Given the description of an element on the screen output the (x, y) to click on. 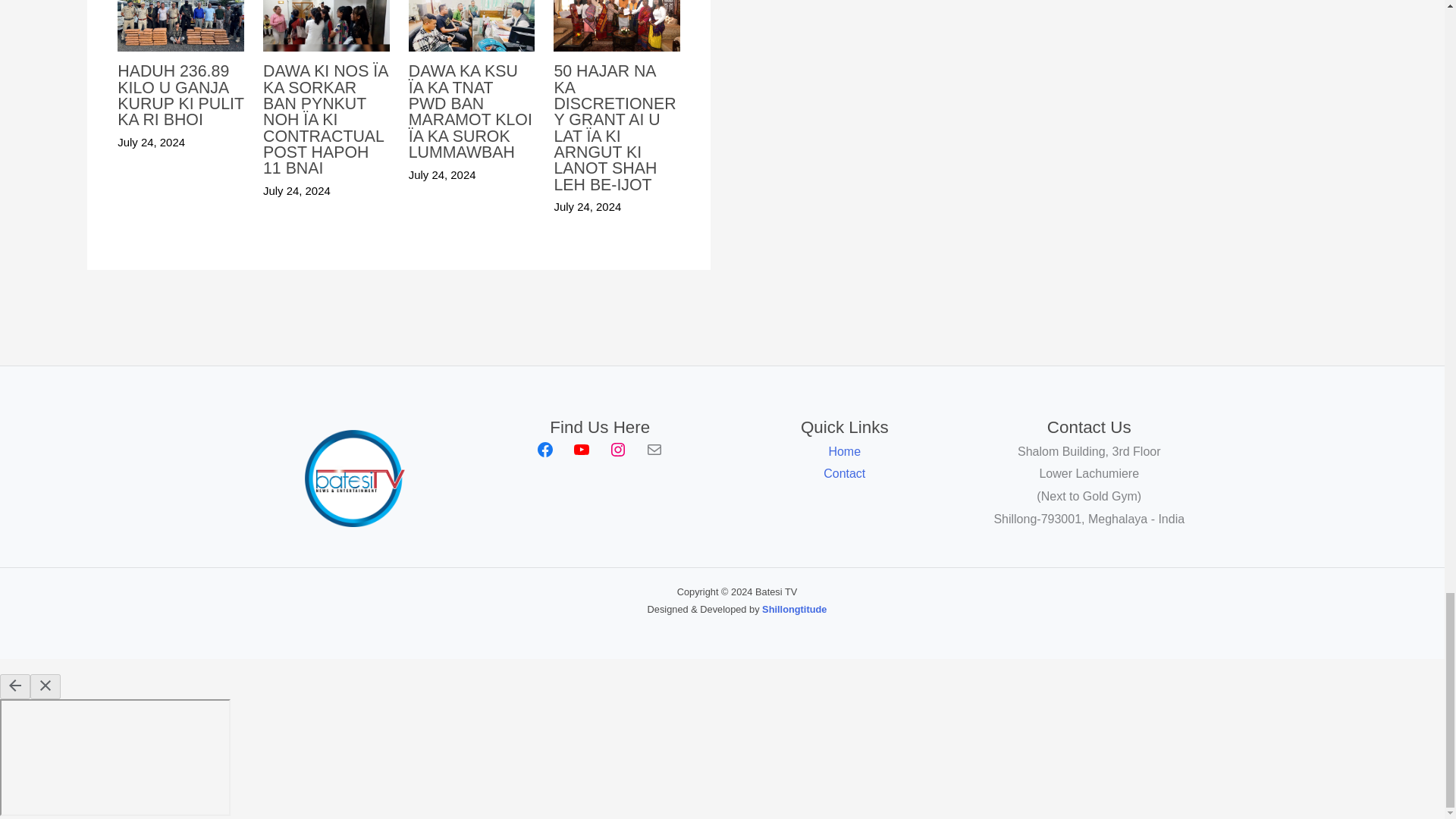
HADUH 236.89 KILO U GANJA KURUP KI PULIT KA RI BHOI (180, 95)
